Given the description of an element on the screen output the (x, y) to click on. 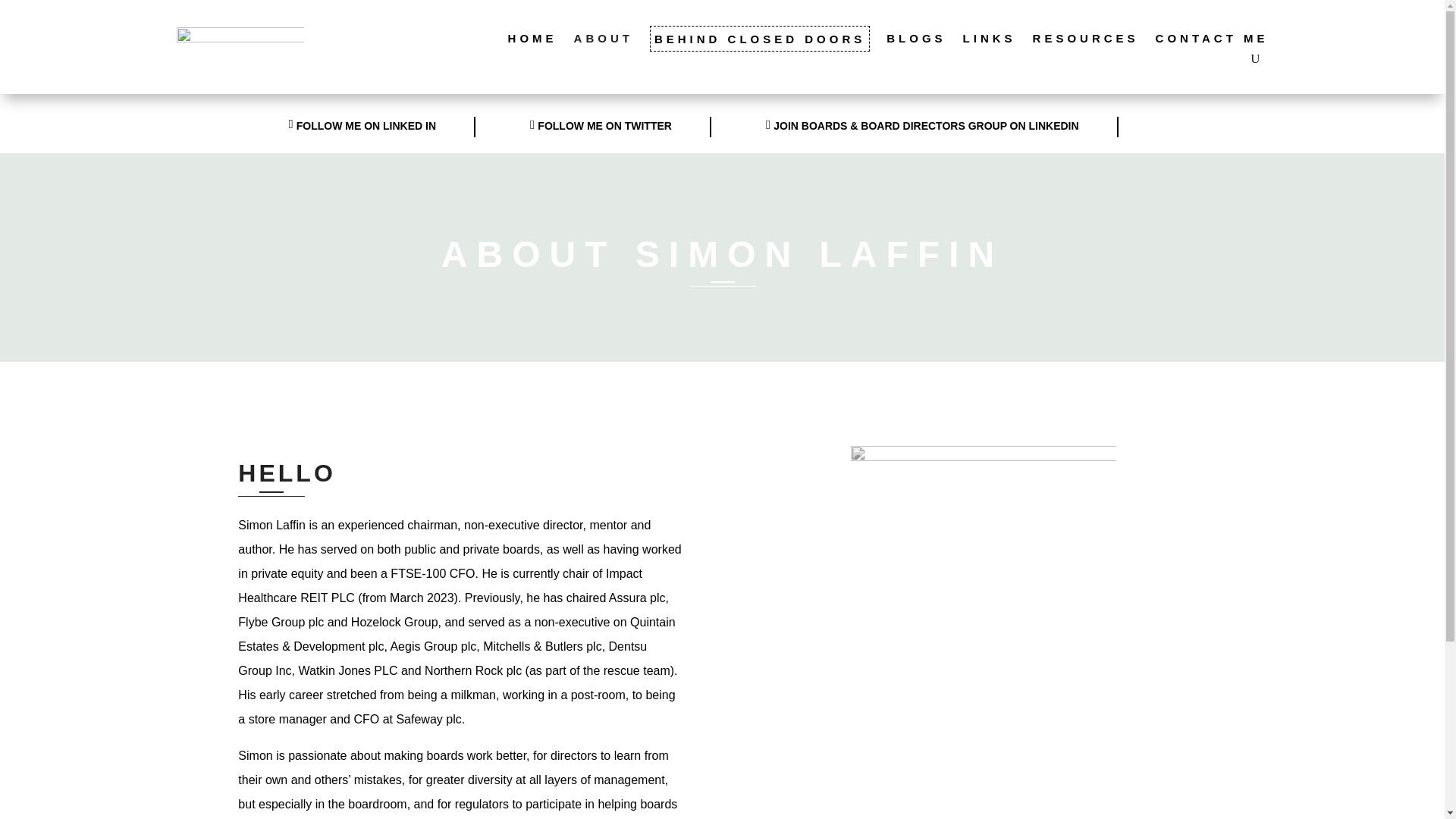
ABOUT (603, 42)
BEHIND CLOSED DOORS (759, 38)
BLOGS (915, 42)
RESOURCES (1085, 42)
HOME (532, 42)
LINKS (989, 42)
logo-compacta (239, 43)
CONTACT ME (1212, 42)
